Given the description of an element on the screen output the (x, y) to click on. 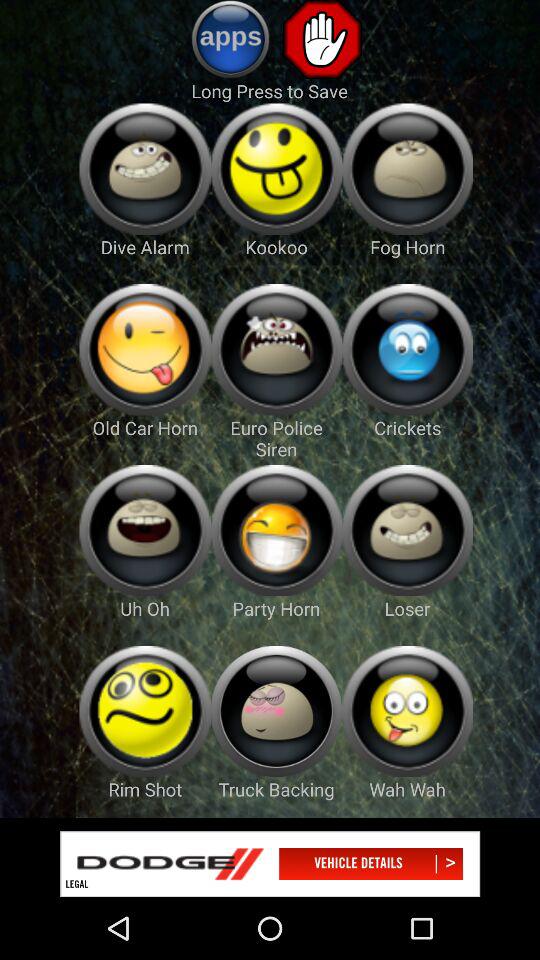
installs european-style police siren (276, 349)
